Given the description of an element on the screen output the (x, y) to click on. 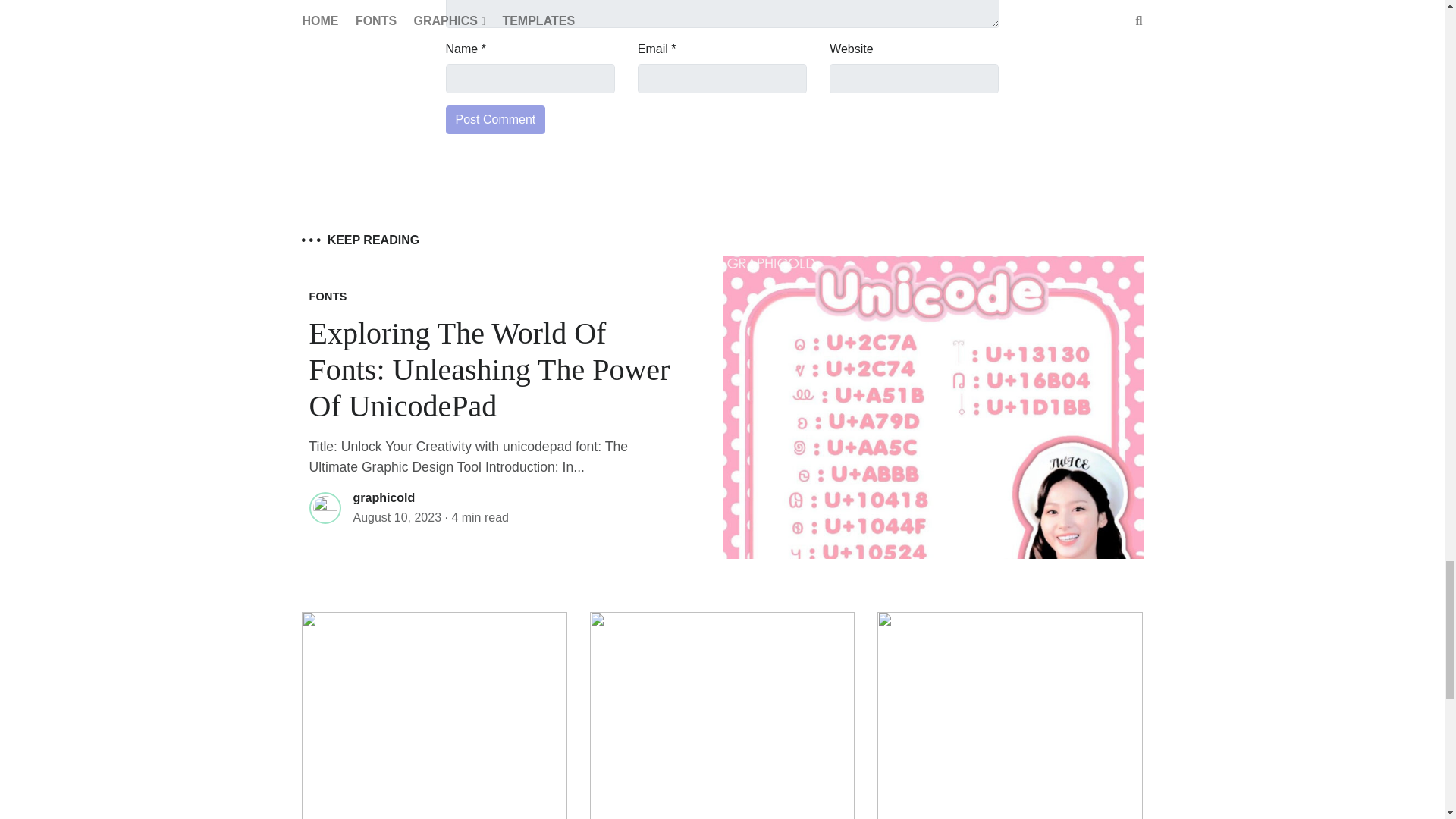
FONTS (327, 296)
Post Comment (495, 119)
Posts by graphicold (383, 497)
Post Comment (495, 119)
